Given the description of an element on the screen output the (x, y) to click on. 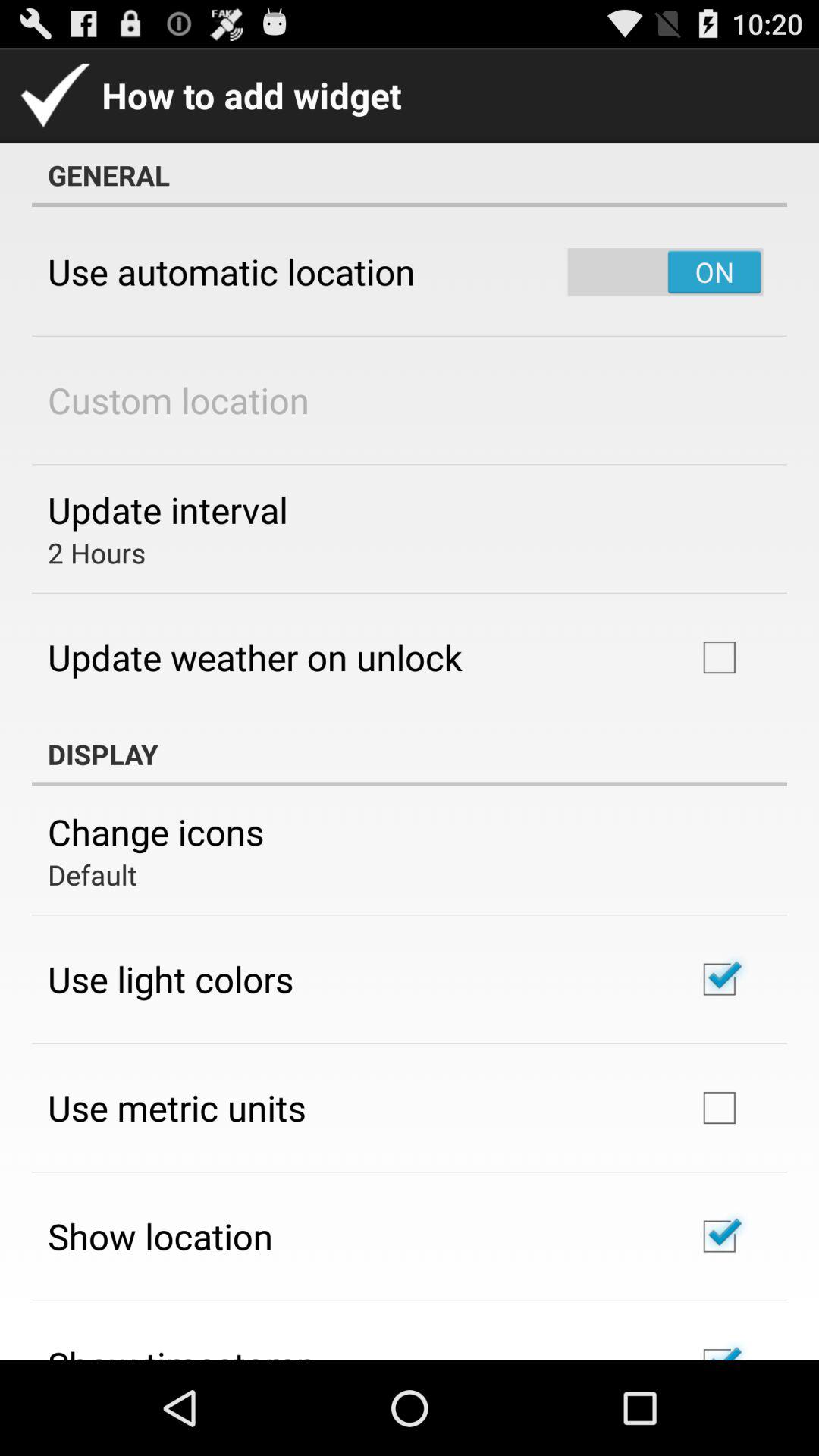
click the app above change icons icon (409, 754)
